Given the description of an element on the screen output the (x, y) to click on. 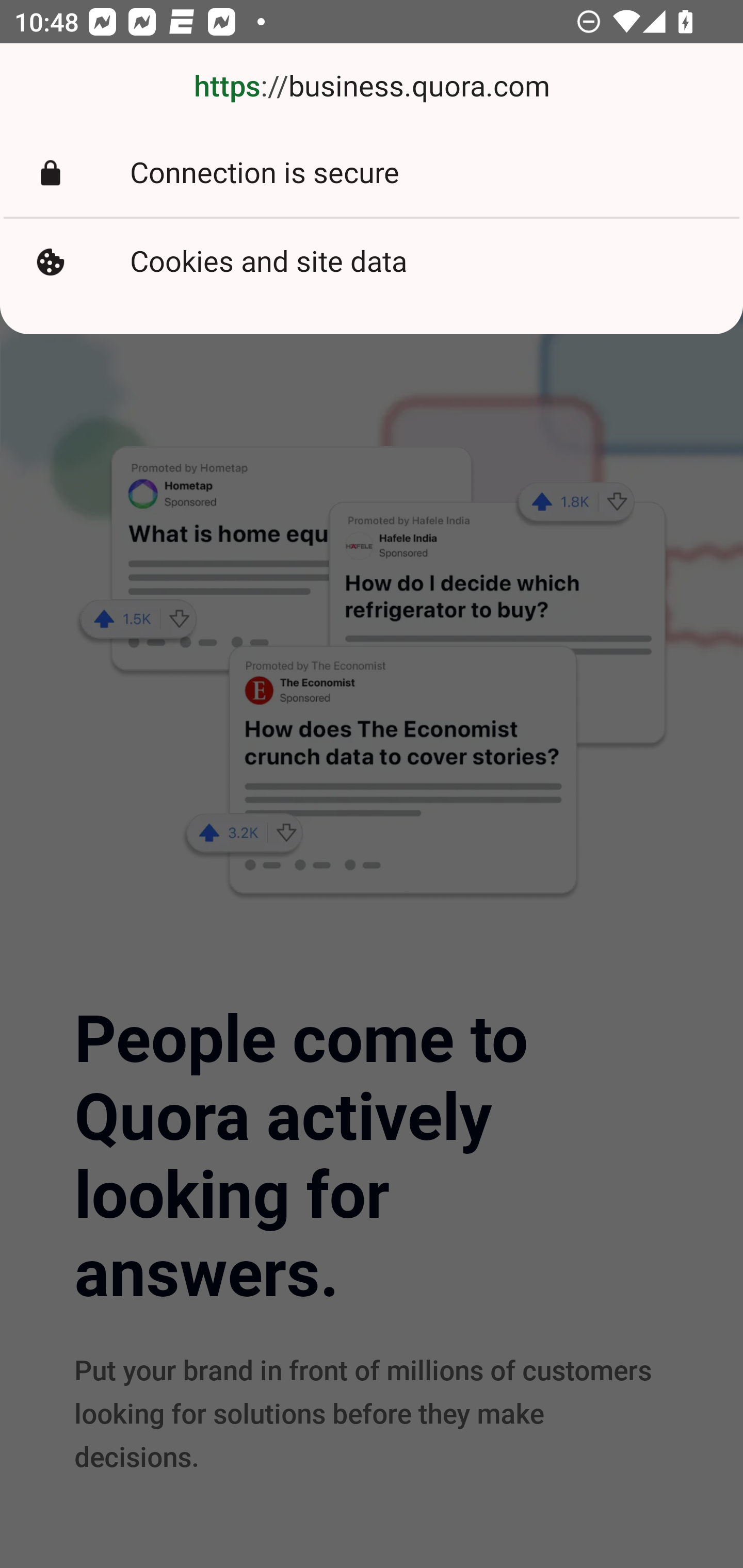
https://business.quora.com (371, 86)
Connection is secure (371, 173)
Cookies and site data (371, 261)
